Given the description of an element on the screen output the (x, y) to click on. 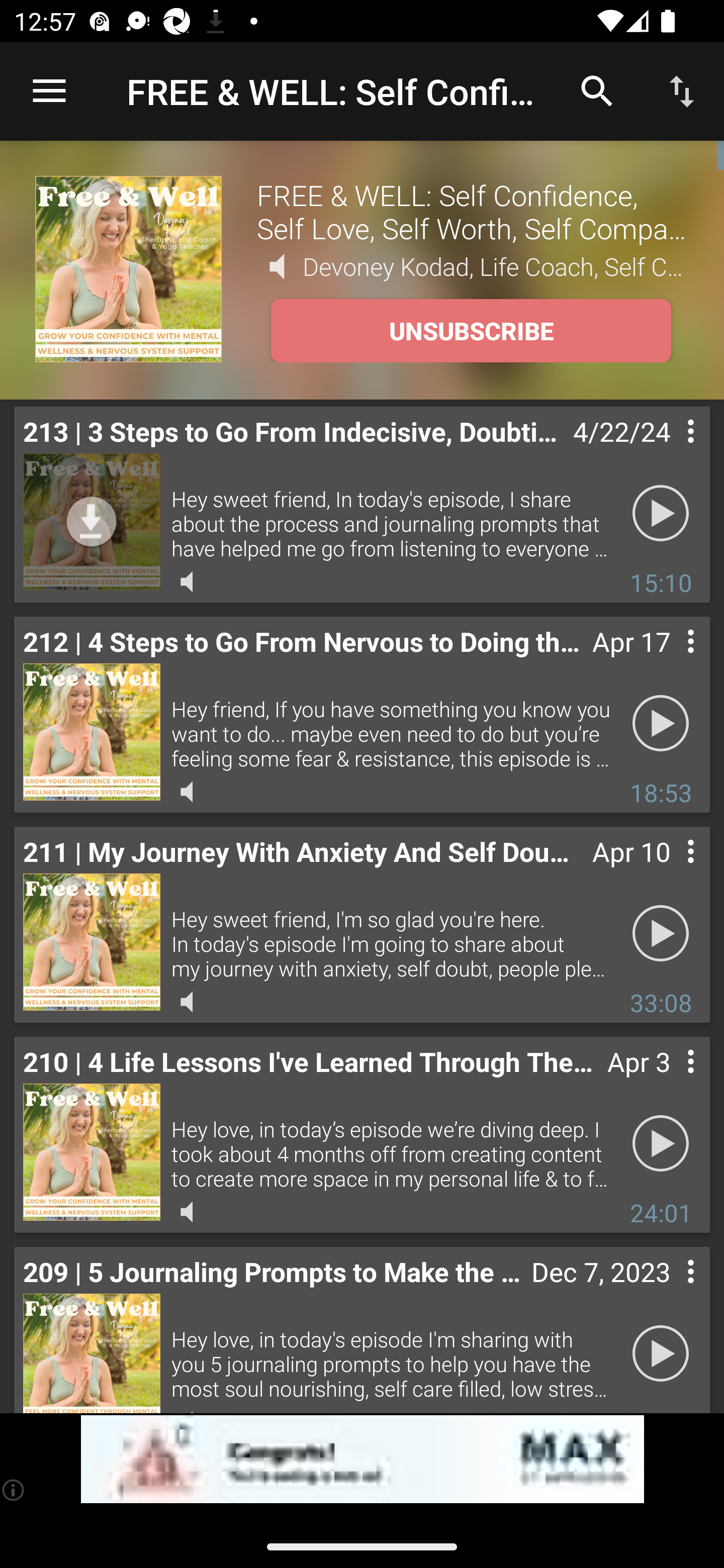
Open navigation sidebar (49, 91)
Search (597, 90)
Sort (681, 90)
UNSUBSCRIBE (470, 330)
Contextual menu (668, 451)
Play (660, 513)
Contextual menu (668, 661)
Play (660, 723)
Contextual menu (668, 870)
Play (660, 933)
Contextual menu (668, 1080)
Play (660, 1143)
Contextual menu (668, 1290)
Play (660, 1353)
app-monetization (362, 1459)
(i) (14, 1489)
